Given the description of an element on the screen output the (x, y) to click on. 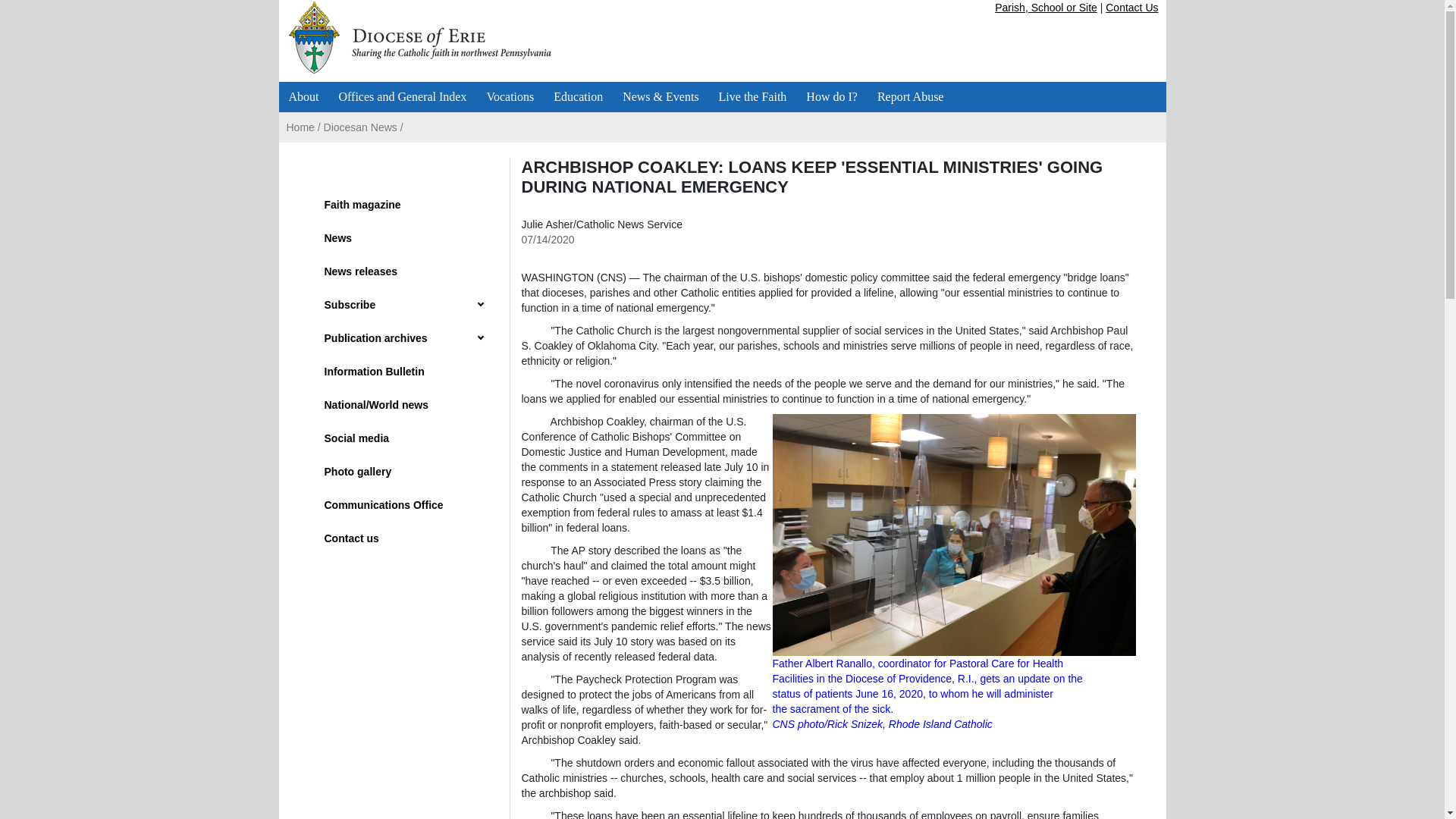
Parish, School or Site (1045, 7)
Contact Us (1131, 7)
Offices and General Index (403, 96)
Parish, School or Site (1045, 7)
About (304, 96)
Vocations (509, 96)
Contact Us (1131, 7)
About (304, 96)
Education (577, 96)
Offices and General Index (403, 96)
Vocations (509, 96)
